Given the description of an element on the screen output the (x, y) to click on. 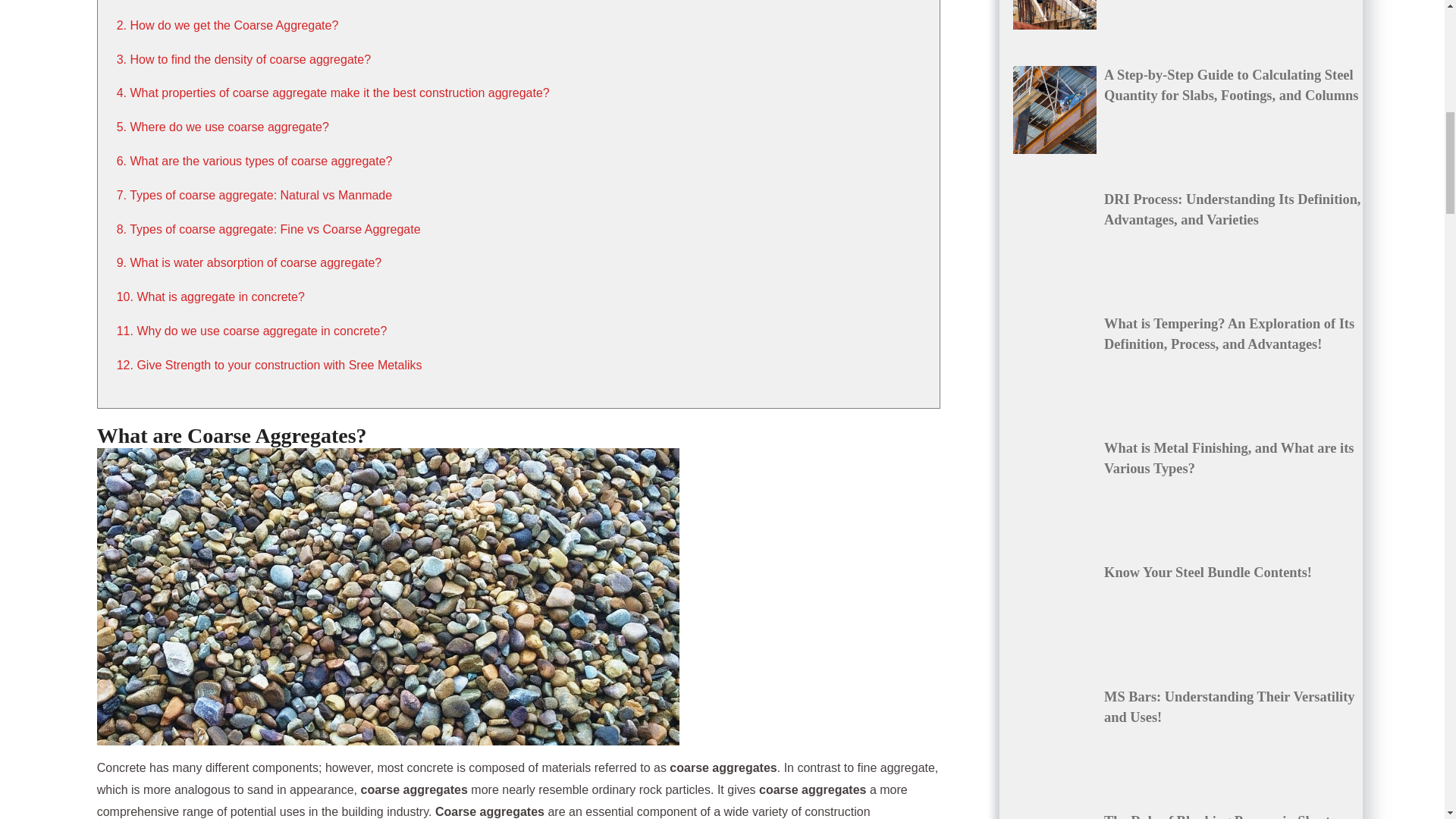
12. Give Strength to your construction with Sree Metaliks (269, 364)
6. What are the various types of coarse aggregate? (254, 160)
8. Types of coarse aggregate: Fine vs Coarse Aggregate (268, 228)
10. What is aggregate in concrete? (210, 296)
11. Why do we use coarse aggregate in concrete? (251, 330)
7. Types of coarse aggregate: Natural vs Manmade (253, 195)
9. What is water absorption of coarse aggregate? (248, 262)
3. How to find the density of coarse aggregate? (243, 59)
5. Where do we use coarse aggregate? (222, 126)
2. How do we get the Coarse Aggregate? (227, 24)
